Given the description of an element on the screen output the (x, y) to click on. 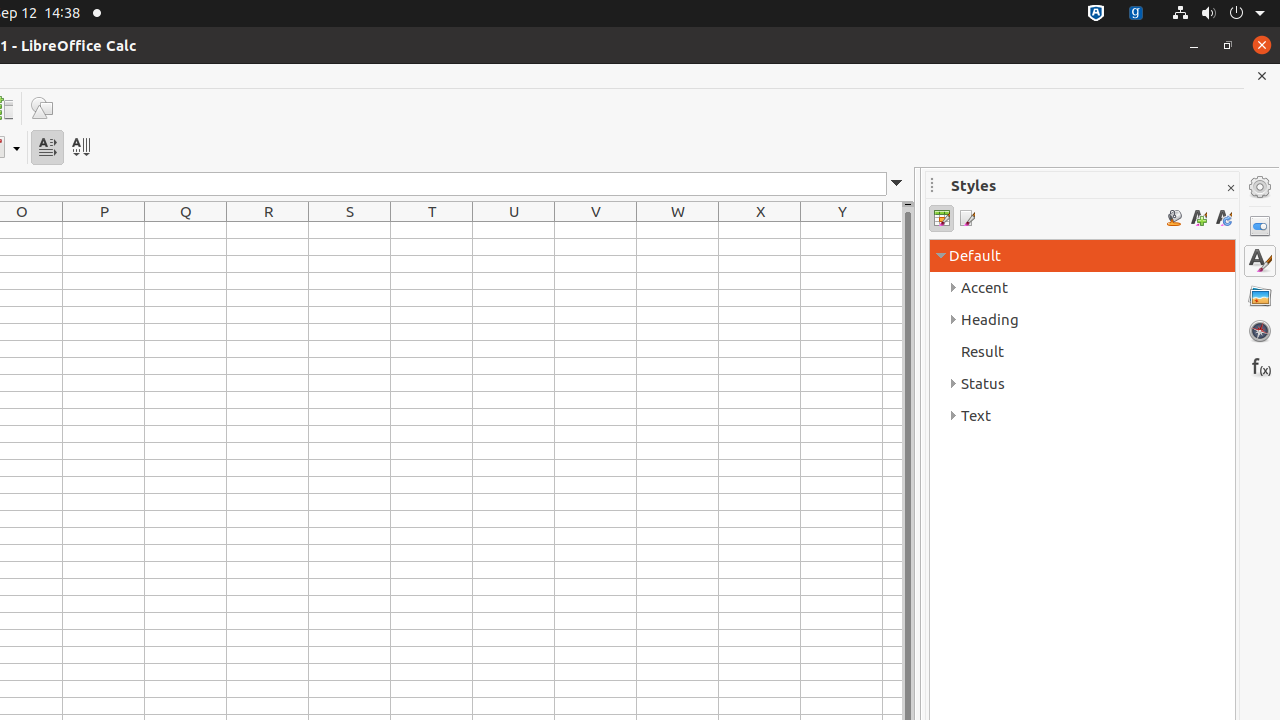
Draw Functions Element type: toggle-button (41, 108)
Text direction from left to right Element type: toggle-button (47, 147)
Y1 Element type: table-cell (842, 230)
Q1 Element type: table-cell (186, 230)
Navigator Element type: radio-button (1260, 331)
